Given the description of an element on the screen output the (x, y) to click on. 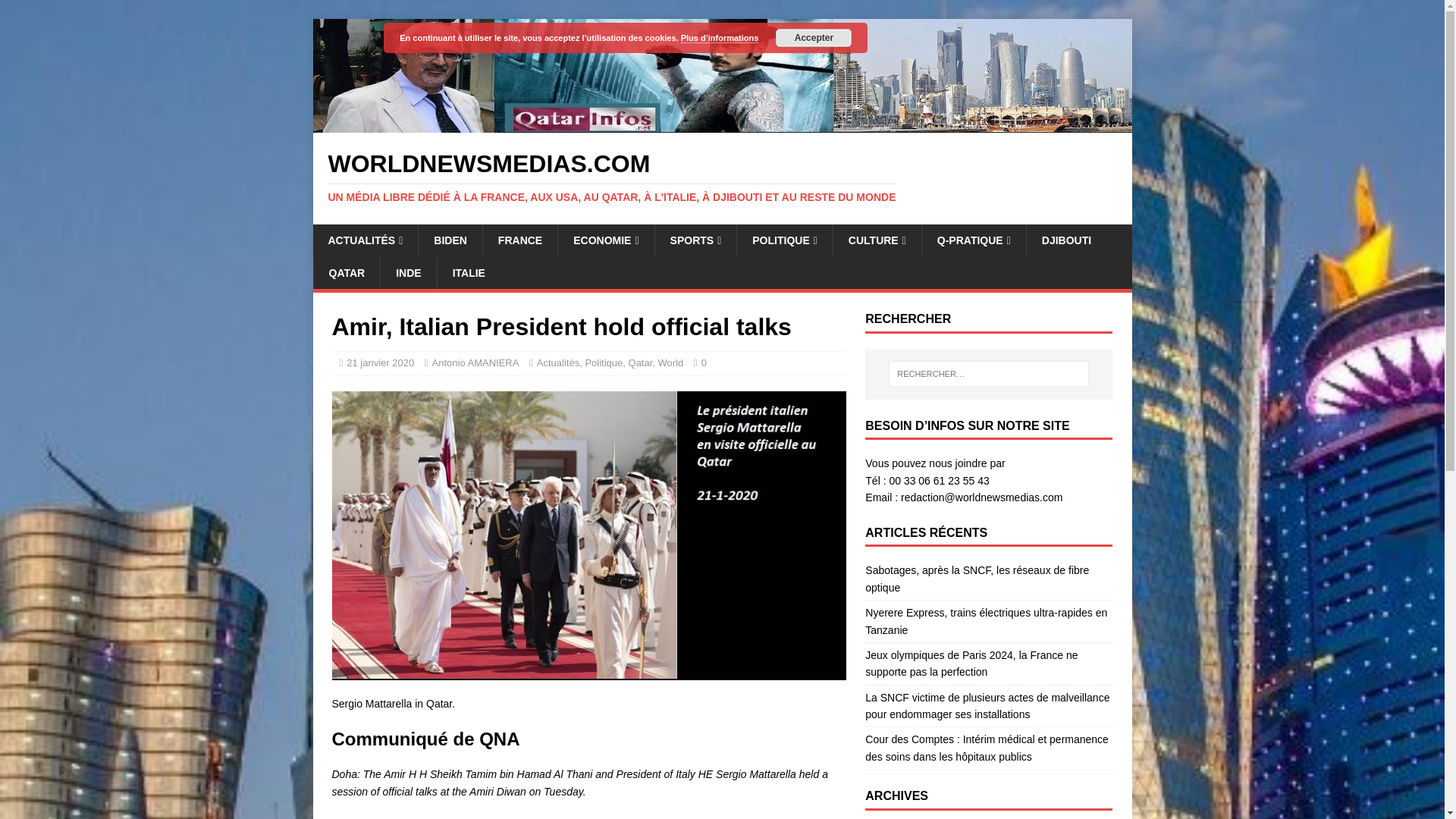
Worldnewsmedias.com (722, 123)
Worldnewsmedias.com (721, 177)
